Given the description of an element on the screen output the (x, y) to click on. 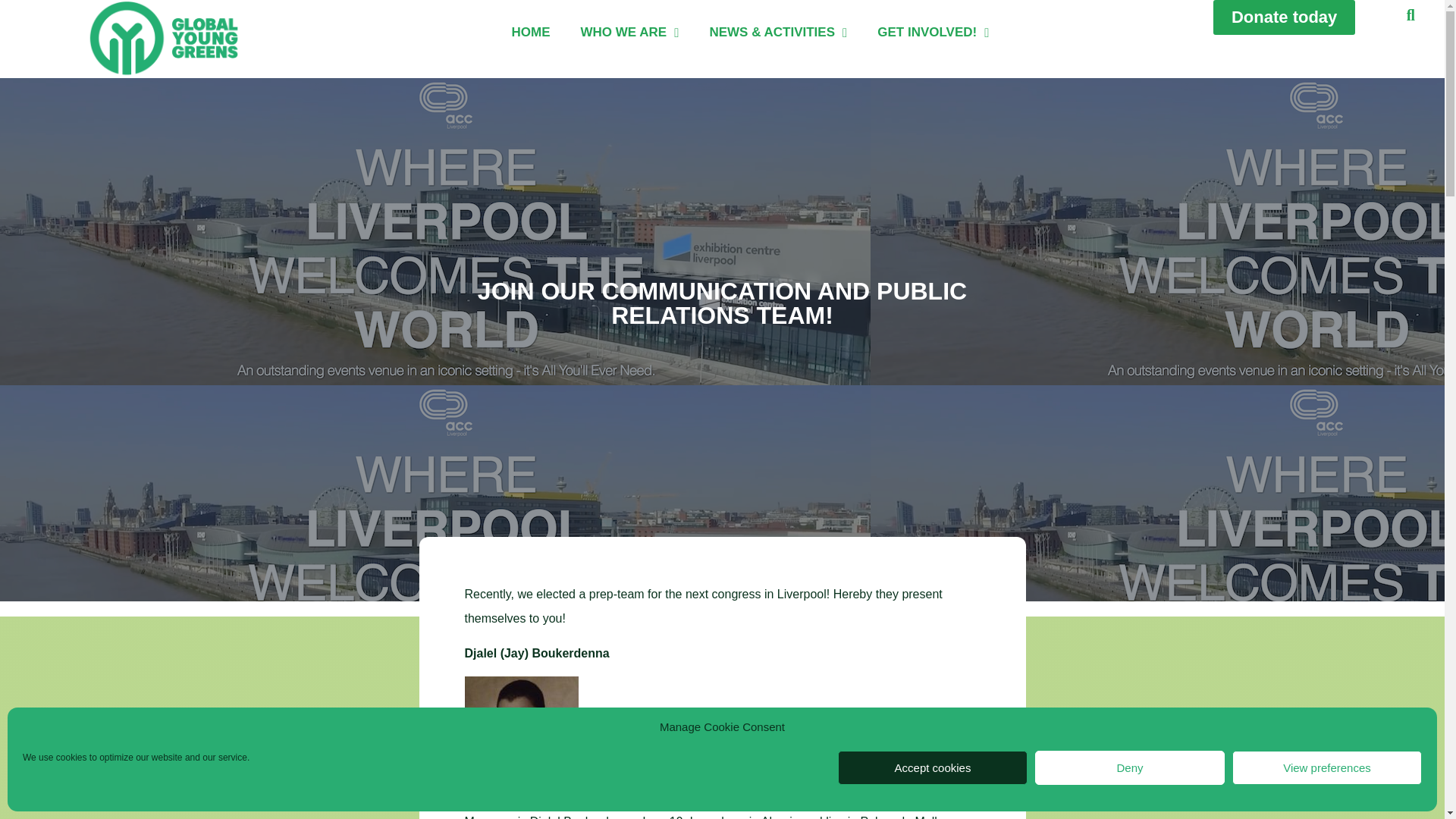
View preferences (1326, 767)
Deny (1129, 767)
Accept cookies (932, 767)
WHO WE ARE (630, 32)
HOME (531, 32)
